Given the description of an element on the screen output the (x, y) to click on. 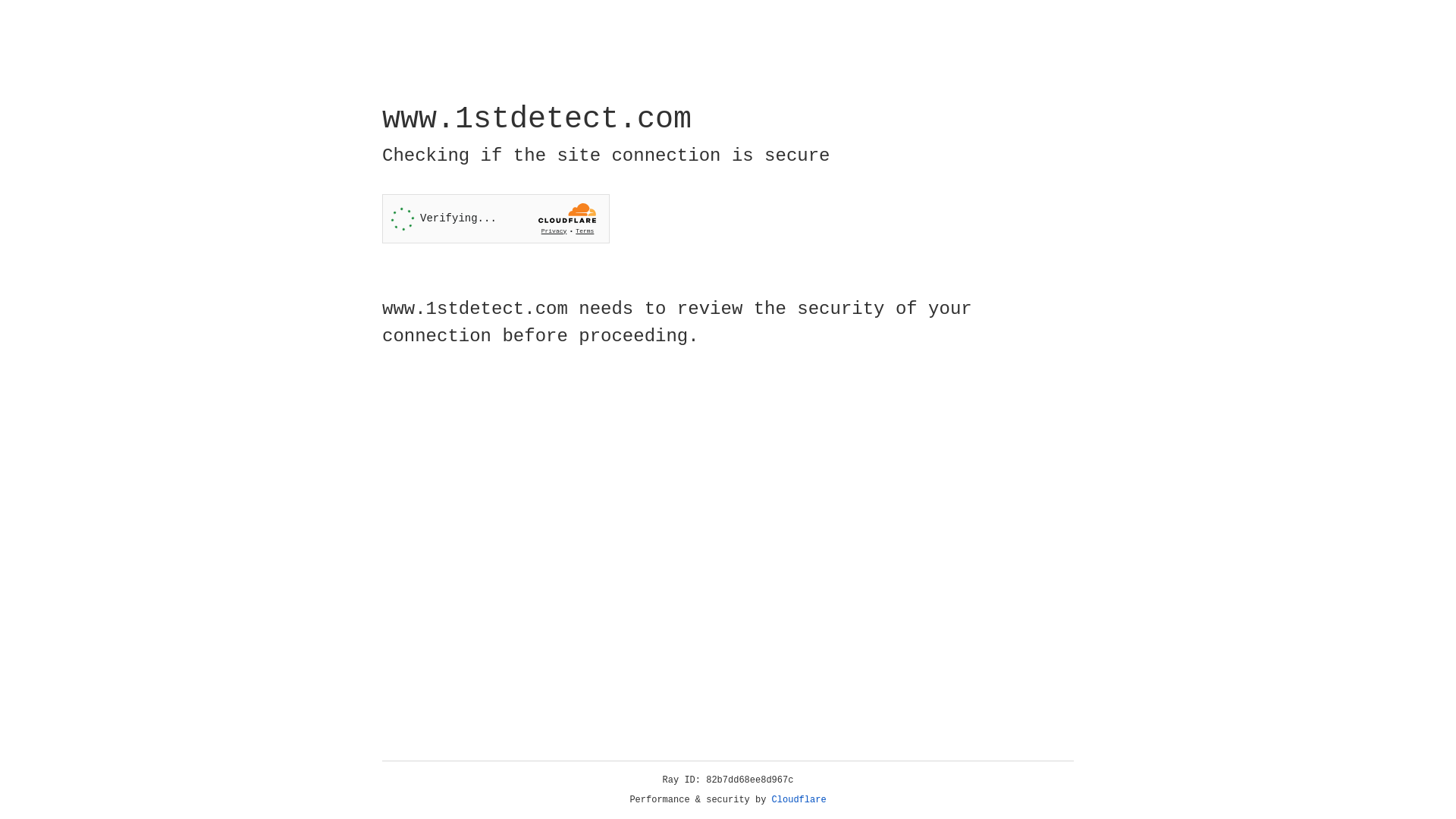
Widget containing a Cloudflare security challenge Element type: hover (495, 218)
Cloudflare Element type: text (798, 799)
